Given the description of an element on the screen output the (x, y) to click on. 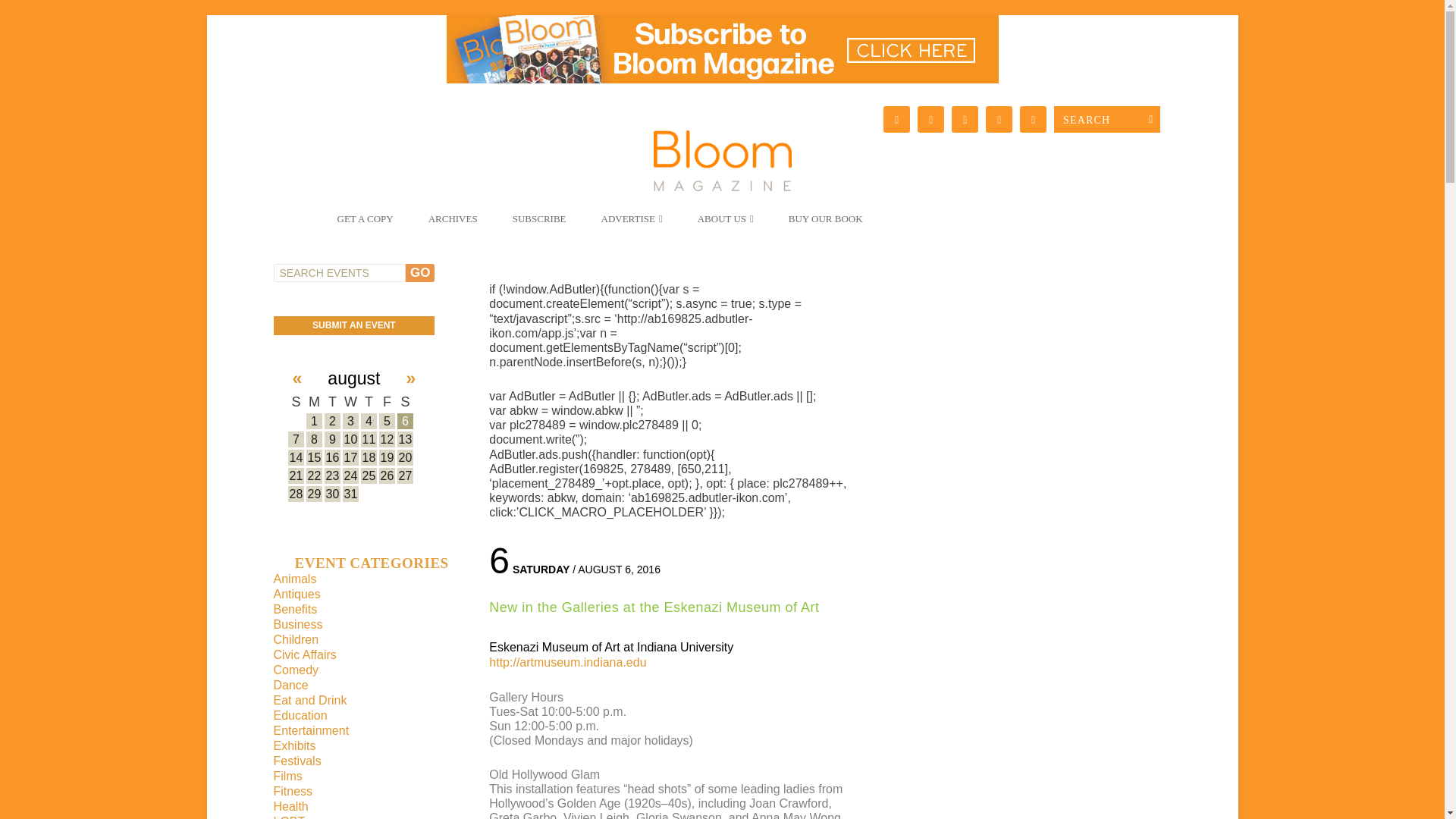
Go (419, 272)
ADVERTISE (631, 224)
search events (338, 272)
ARCHIVES (452, 224)
BUY OUR BOOK (826, 224)
ABOUT US (725, 224)
SUBSCRIBE (539, 224)
Go (419, 272)
GET A COPY (364, 224)
